Given the description of an element on the screen output the (x, y) to click on. 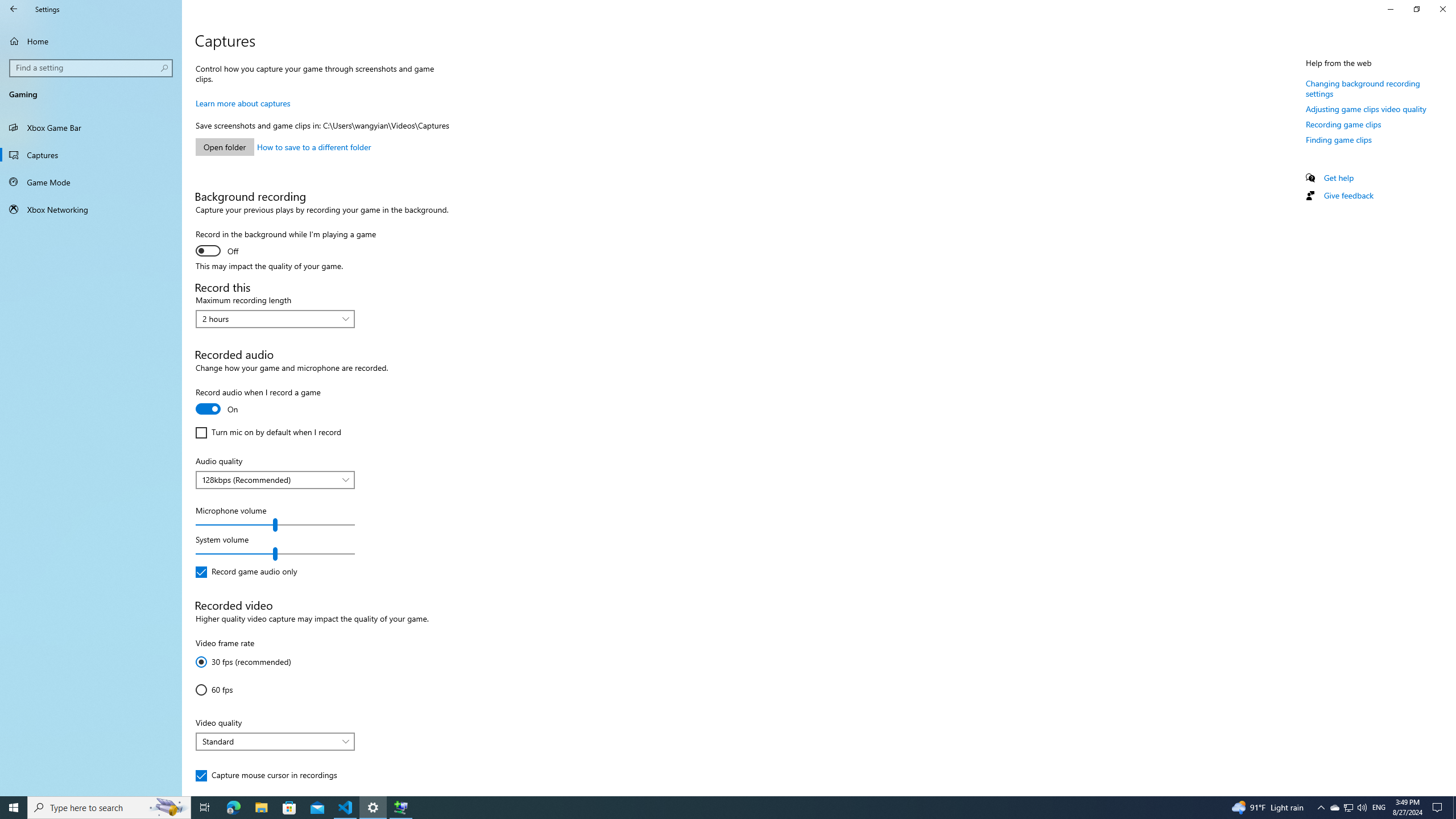
How to save to a different folder (314, 146)
30 fps (recommended) (243, 661)
Changing background recording settings (1362, 87)
60 fps (229, 689)
Microphone volume (275, 524)
Finding game clips (1338, 139)
Adjusting game clips video quality (1366, 108)
